Given the description of an element on the screen output the (x, y) to click on. 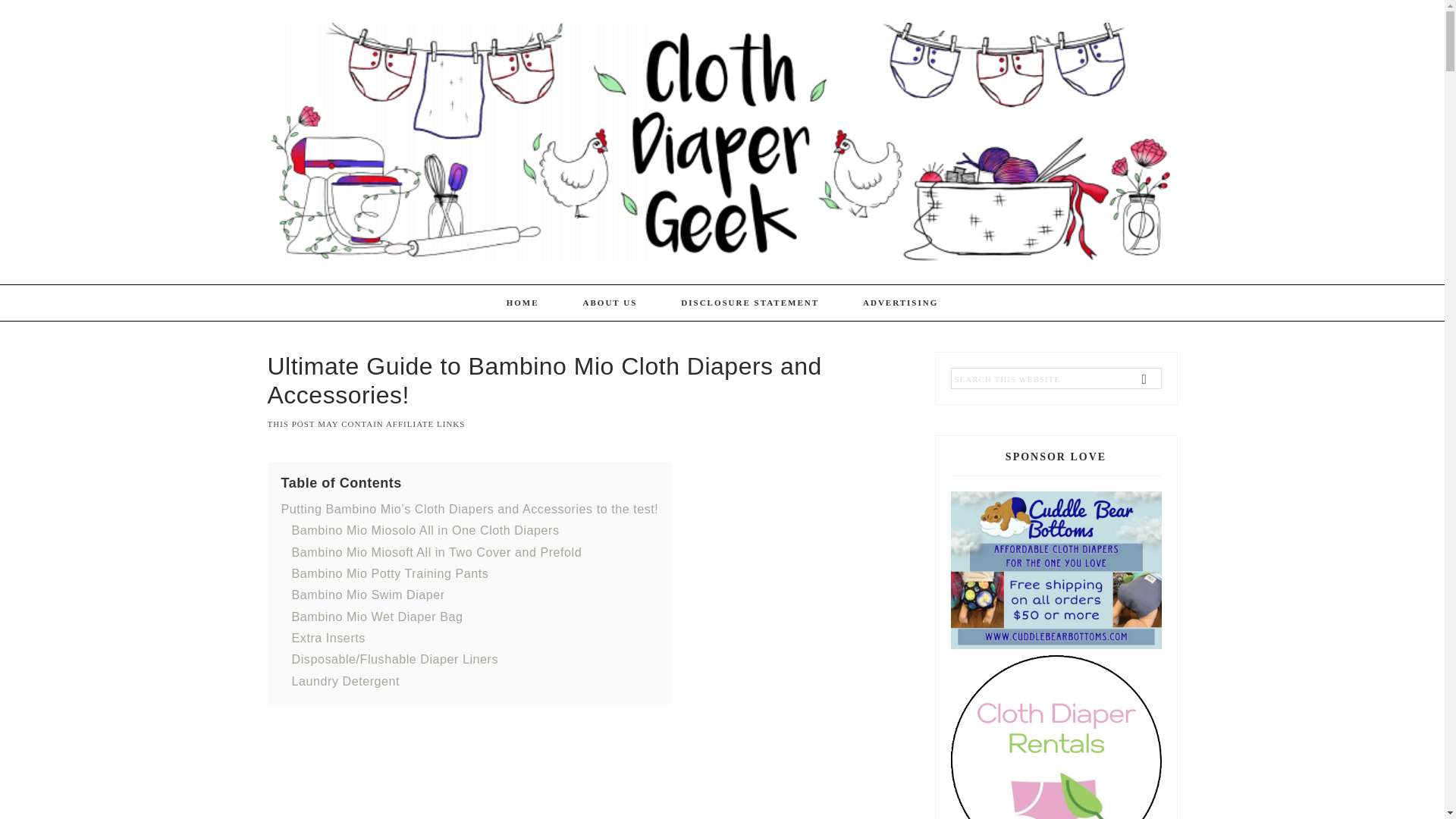
ABOUT US (610, 302)
Bambino Mio Miosolo All in One Cloth Diapers (425, 530)
Bambino Mio Wet Diaper Bag (377, 616)
HOME (522, 302)
Extra Inserts (328, 637)
ADVERTISING (900, 302)
Bambino Mio Swim Diaper (367, 594)
Bambino Mio Potty Training Pants (389, 572)
DISCLOSURE STATEMENT (750, 302)
Laundry Detergent (344, 680)
Bambino Mio Miosoft All in Two Cover and Prefold (435, 551)
